Given the description of an element on the screen output the (x, y) to click on. 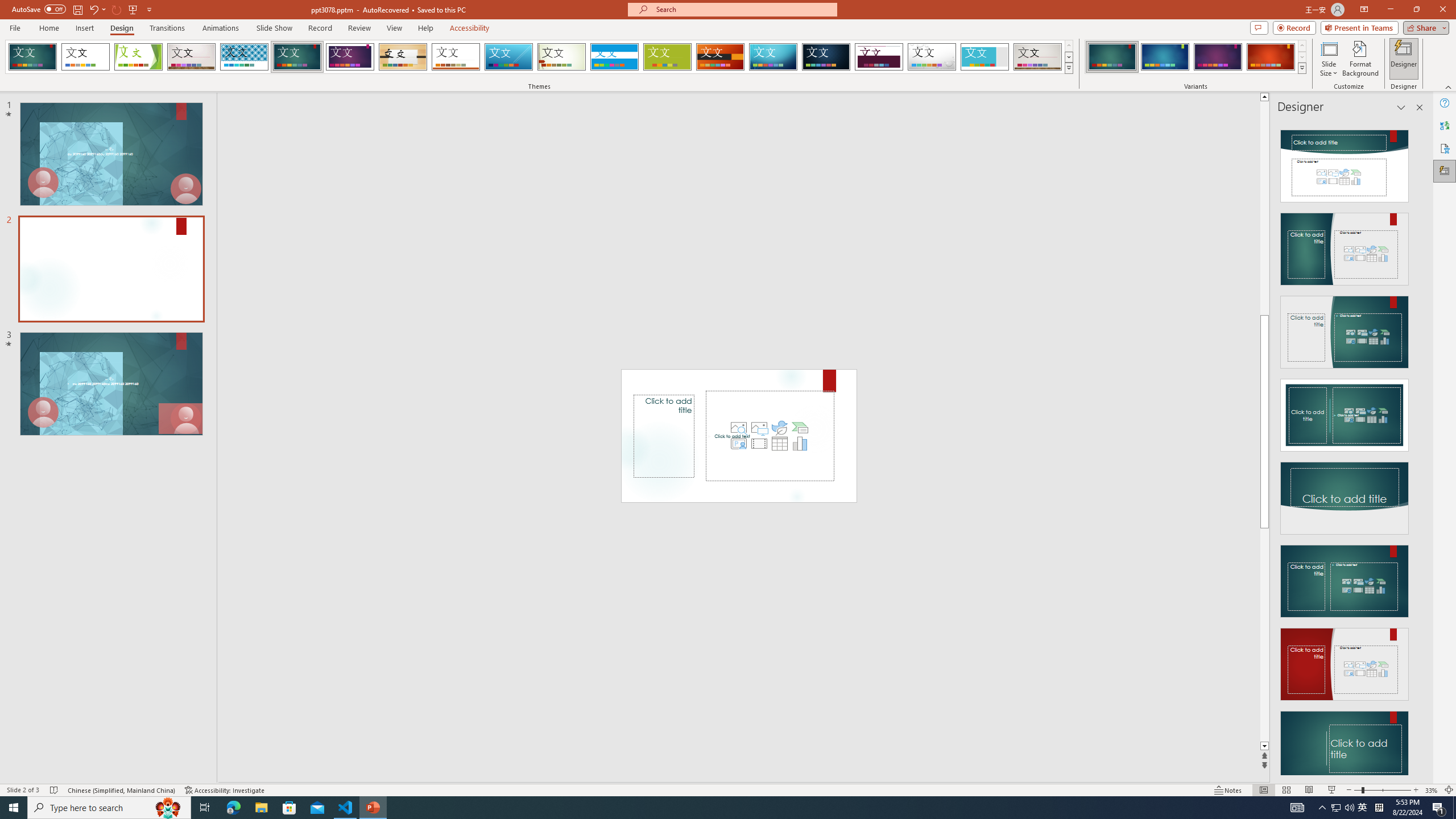
Design Idea (1344, 743)
Ion Variant 1 (1112, 56)
Insert an Icon (779, 427)
Berlin (720, 56)
Circuit (772, 56)
Ion Variant 3 (1217, 56)
Facet (138, 56)
